Given the description of an element on the screen output the (x, y) to click on. 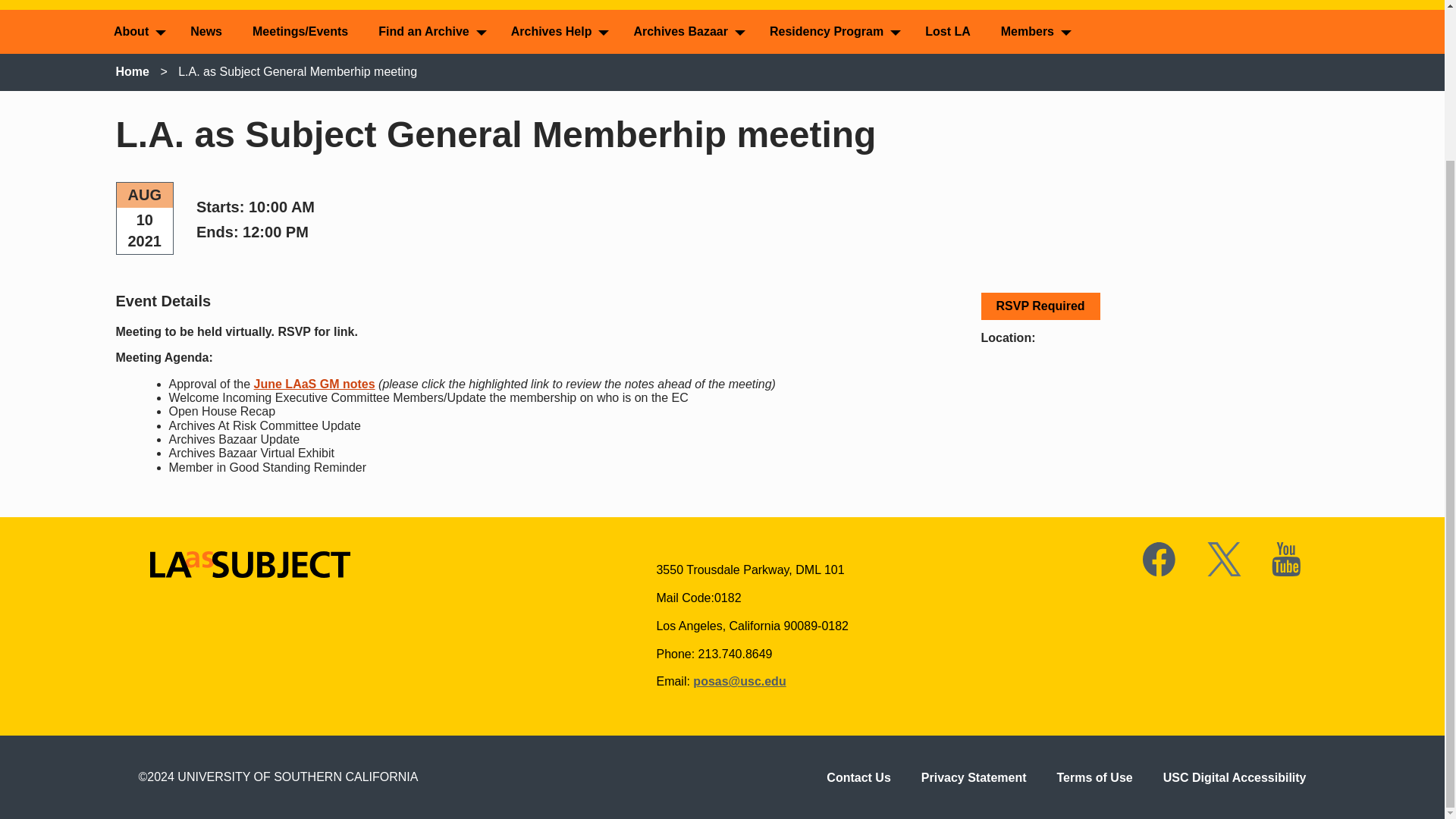
LA as Subject (44, 11)
LA as Subject (171, 601)
Facebook (1159, 559)
Members (1032, 31)
LA as Subject (249, 573)
Twitter (1224, 559)
Residency Program (832, 31)
Find an Archive (428, 31)
Archives Help (557, 31)
News (205, 31)
About (136, 31)
LA as Subject (44, 11)
Archives Bazaar (685, 31)
LA as Subject (249, 564)
Youtube (1288, 559)
